Given the description of an element on the screen output the (x, y) to click on. 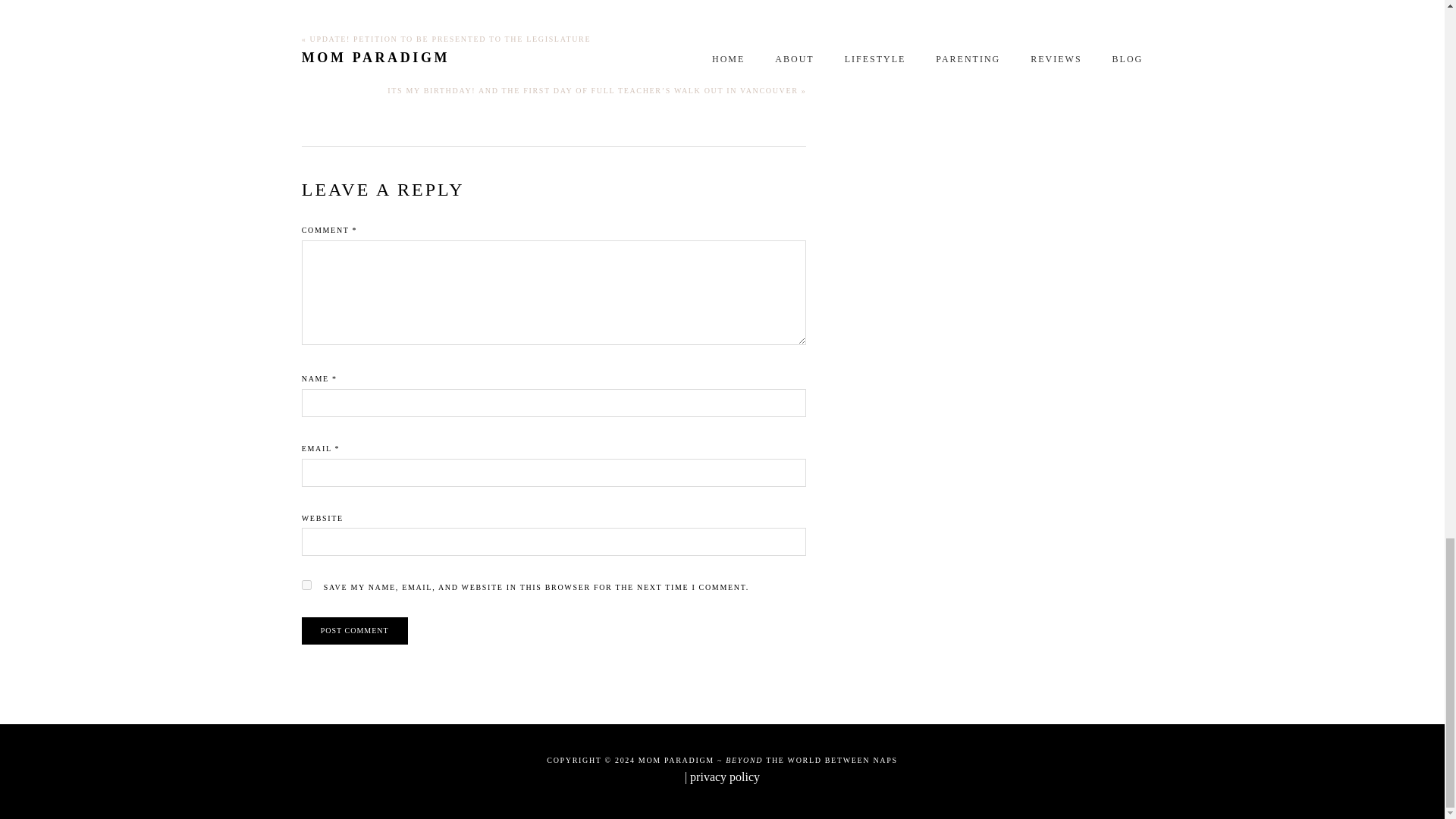
Post Comment (354, 630)
Post Comment (354, 630)
yes (306, 584)
